Given the description of an element on the screen output the (x, y) to click on. 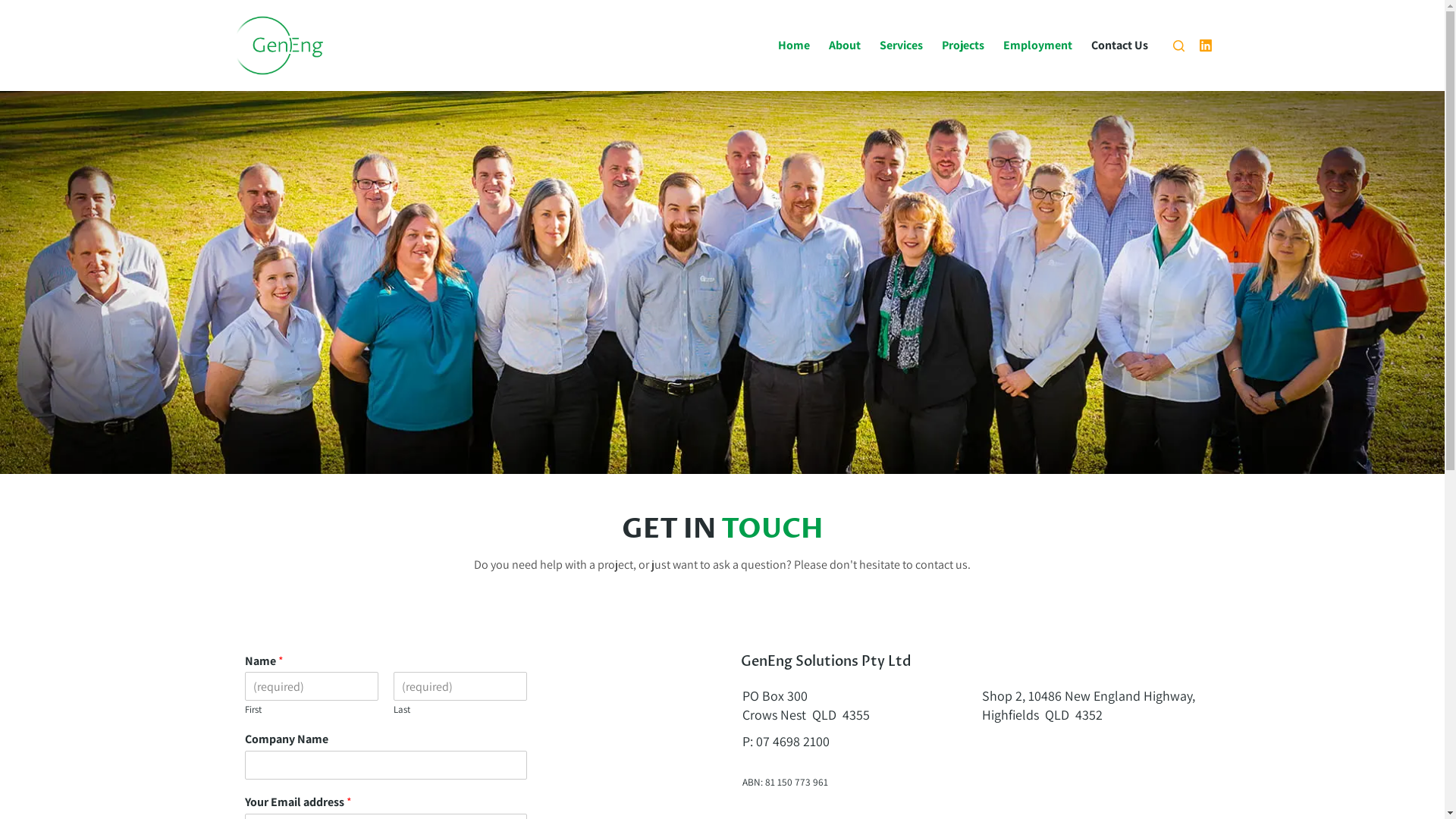
Employment Element type: text (1037, 45)
Contact Us Element type: text (1119, 45)
Projects Element type: text (963, 45)
Services Element type: text (901, 45)
Skip to content Element type: text (15, 7)
About Element type: text (844, 45)
Home Element type: text (793, 45)
